Given the description of an element on the screen output the (x, y) to click on. 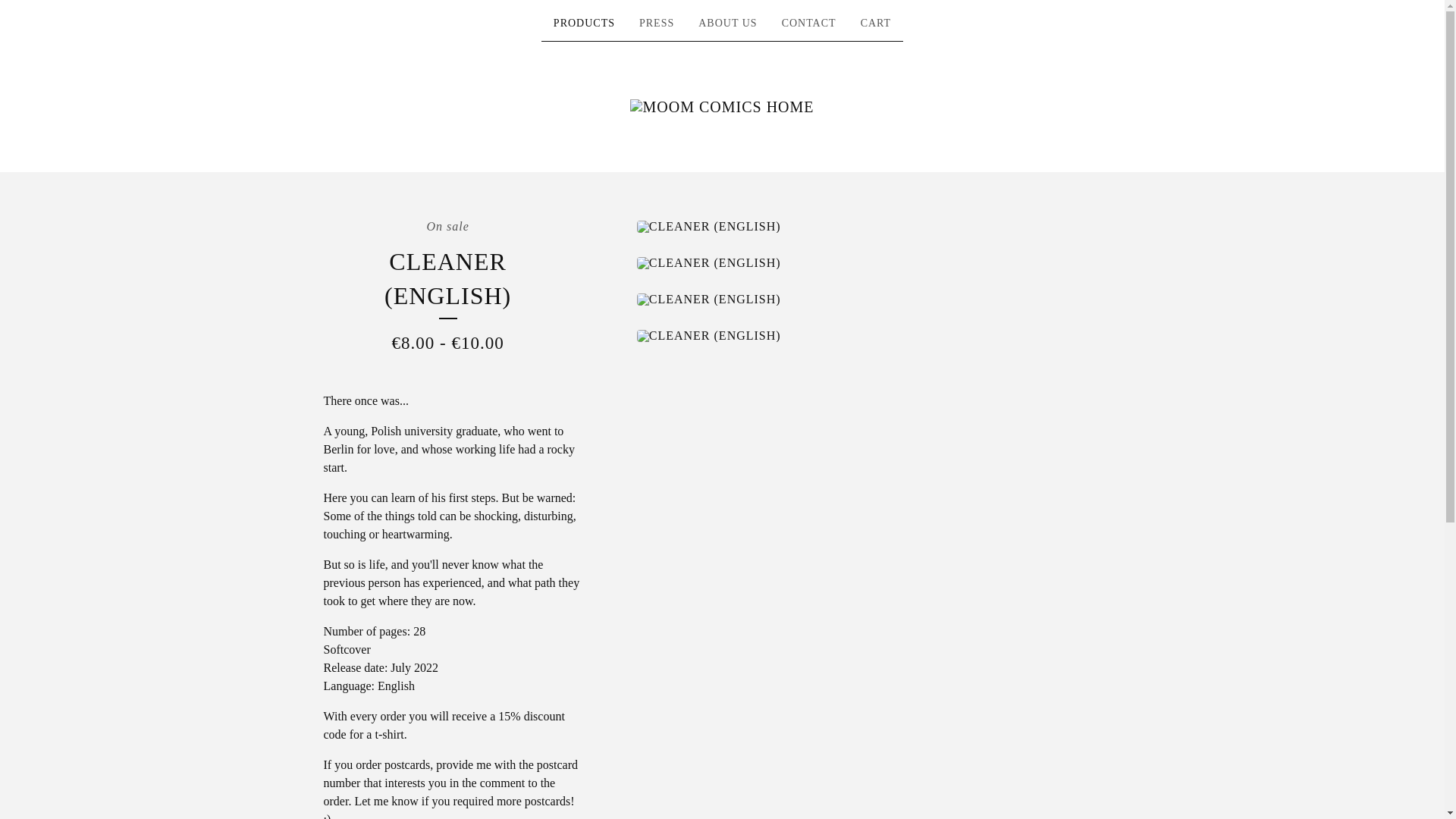
CART (876, 23)
Home (721, 106)
ABOUT US (727, 23)
PRODUCTS (584, 23)
View About us (727, 23)
CONTACT (809, 23)
PRESS (656, 23)
View Press (656, 23)
